Given the description of an element on the screen output the (x, y) to click on. 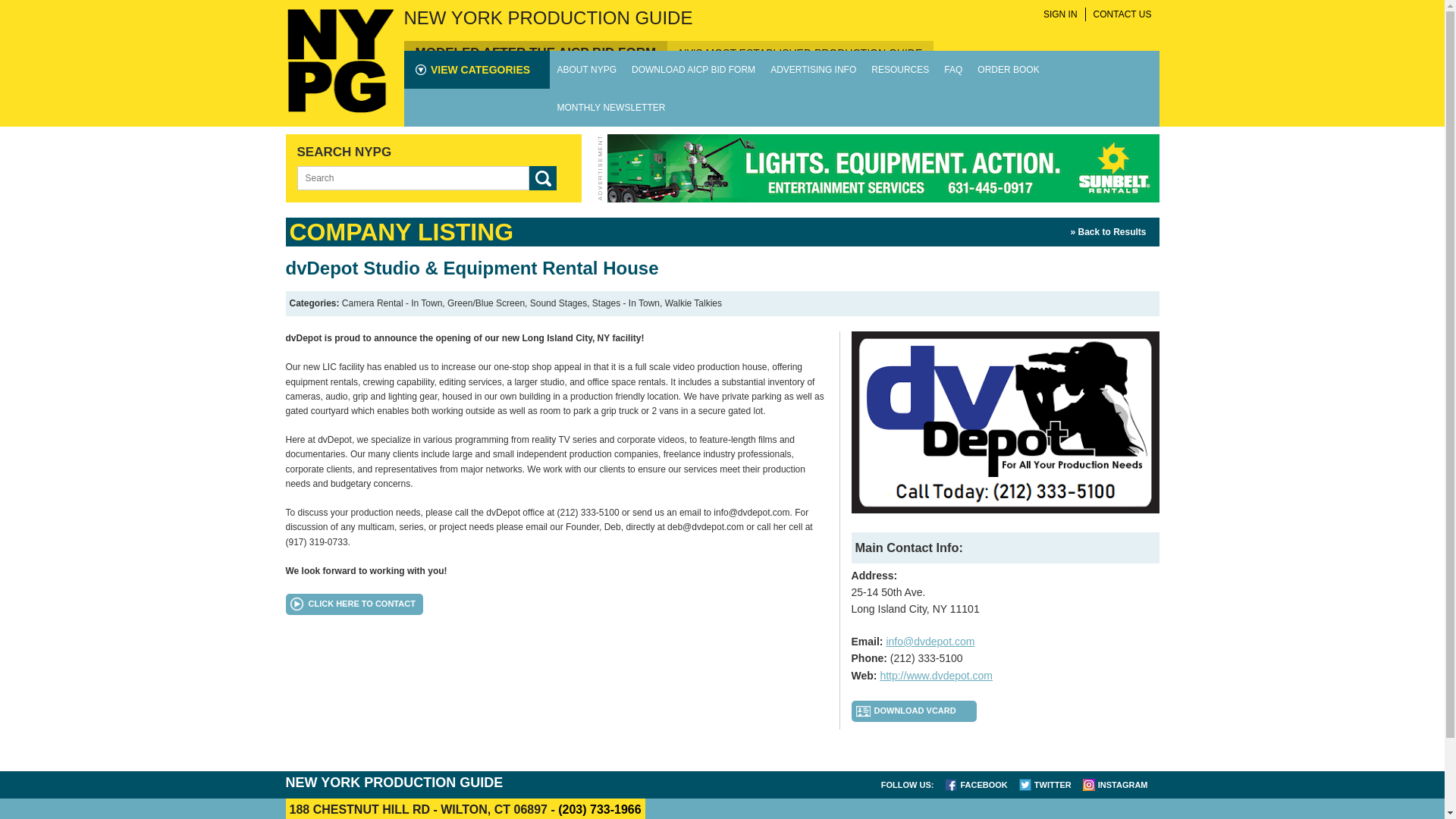
SIGN IN (1059, 14)
VIEW CATEGORIES (475, 69)
CONTACT US (1122, 14)
SEARCH (542, 178)
